Given the description of an element on the screen output the (x, y) to click on. 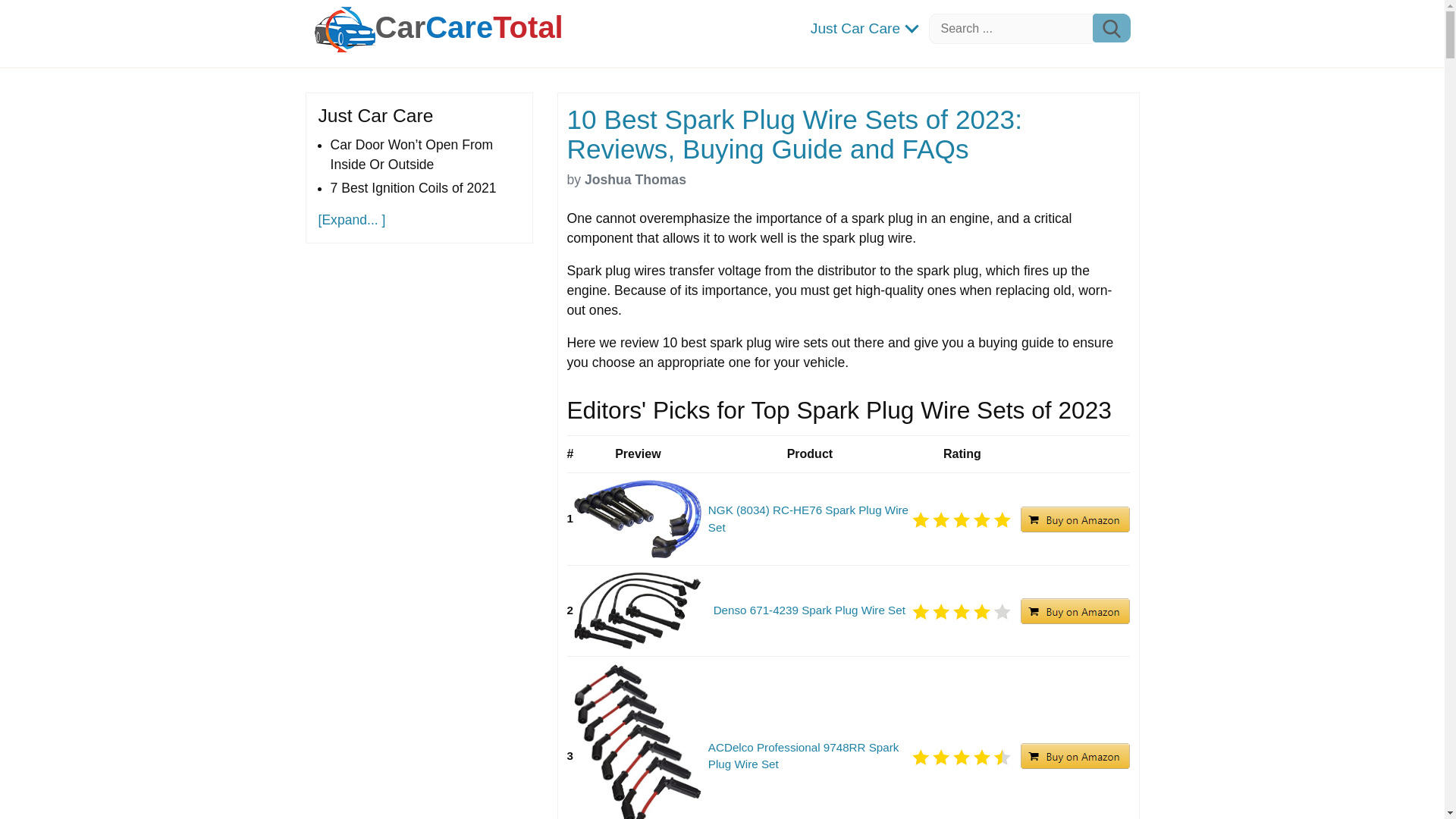
ACDelco Professional 9748RR Spark Plug Wire Set (809, 756)
CarCareTotal (468, 27)
Denso 671-4239 Spark Plug Wire Set (809, 610)
ACDelco Professional 9748RR Spark Plug Wire Set (809, 756)
Denso 671-4239 Spark Plug Wire Set (809, 610)
